Given the description of an element on the screen output the (x, y) to click on. 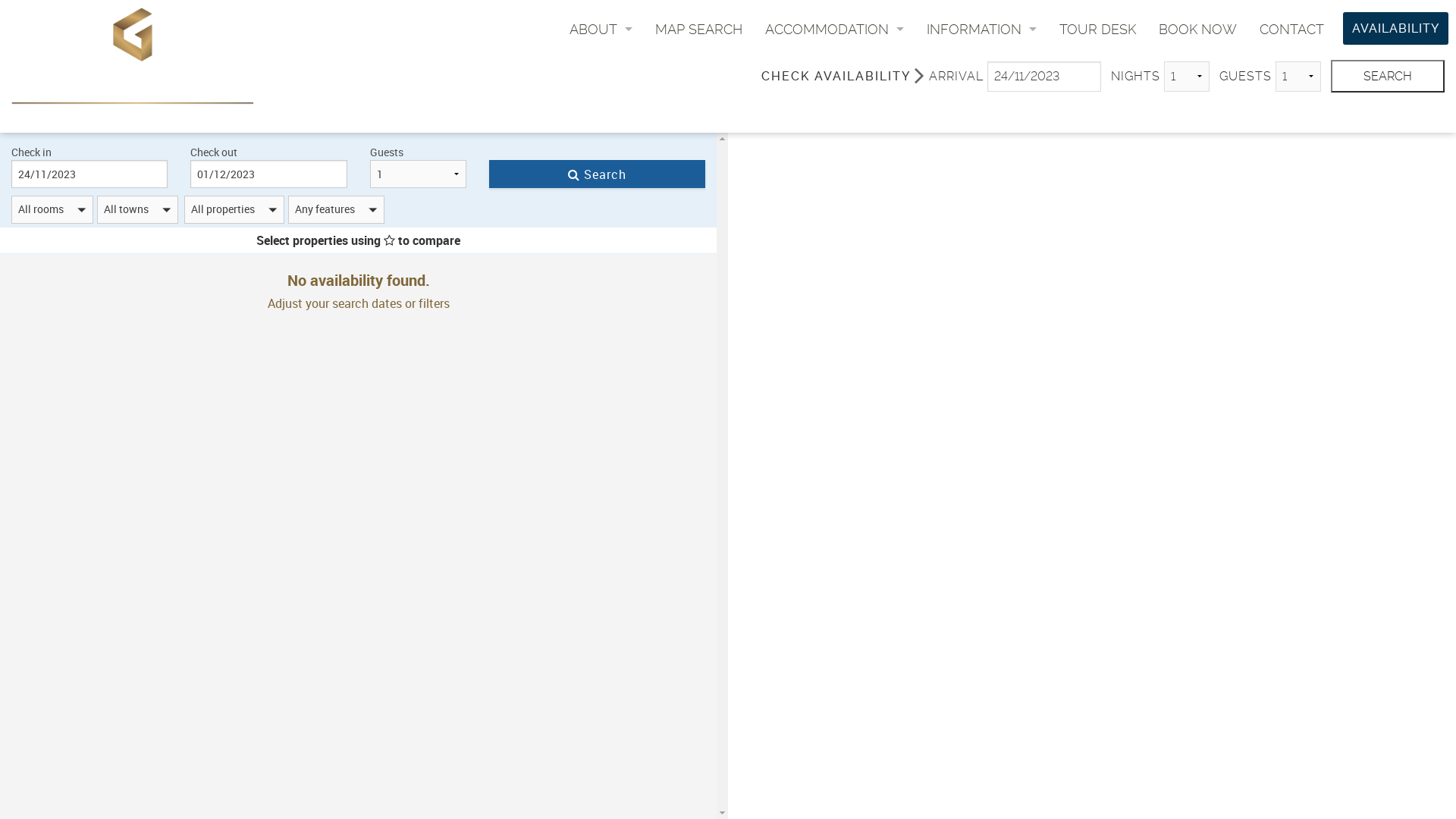
GUEST INFORMATION Element type: text (600, 63)
HOLIDAY RENTAL INFORMATION Element type: text (981, 97)
EDGEWATER 207 Element type: text (834, 165)
SEARCH Element type: text (1387, 75)
ACCOMMODATION Element type: text (834, 29)
EMPLOYMENT Element type: text (600, 165)
CONTACT Element type: text (1291, 29)
COGENS PLACE Element type: text (834, 97)
EDGEWATER 108 Element type: text (834, 131)
PIER POINT 101 Element type: text (834, 199)
PIER POINT 105 Element type: text (834, 233)
PROPERTY MANAGEMENT Element type: text (600, 131)
FREQUENTLY ASKED QUESTIONS Element type: text (981, 63)
PRIVACY POLICY Element type: text (981, 165)
AVAILABILITY Element type: text (1395, 28)
TOUR DESK Element type: text (1097, 29)
SOHO 203 Element type: text (834, 336)
BOOK NOW Element type: text (1197, 29)
ABOUT GEELONG Element type: text (600, 97)
WHAT'S PROVIDED Element type: text (981, 233)
SOHO 1A Element type: text (834, 302)
Search Element type: text (597, 174)
PIER POINT 302 Element type: text (834, 268)
GIFT VOUCHERS Element type: text (600, 199)
ABOUT Element type: text (600, 29)
TERMS & CONDITIONS Element type: text (981, 199)
INFORMATION Element type: text (981, 29)
609 MERCER APARTMENTS Element type: text (834, 63)
GETTING TO GEELONG Element type: text (981, 131)
MAP SEARCH Element type: text (698, 29)
